Given the description of an element on the screen output the (x, y) to click on. 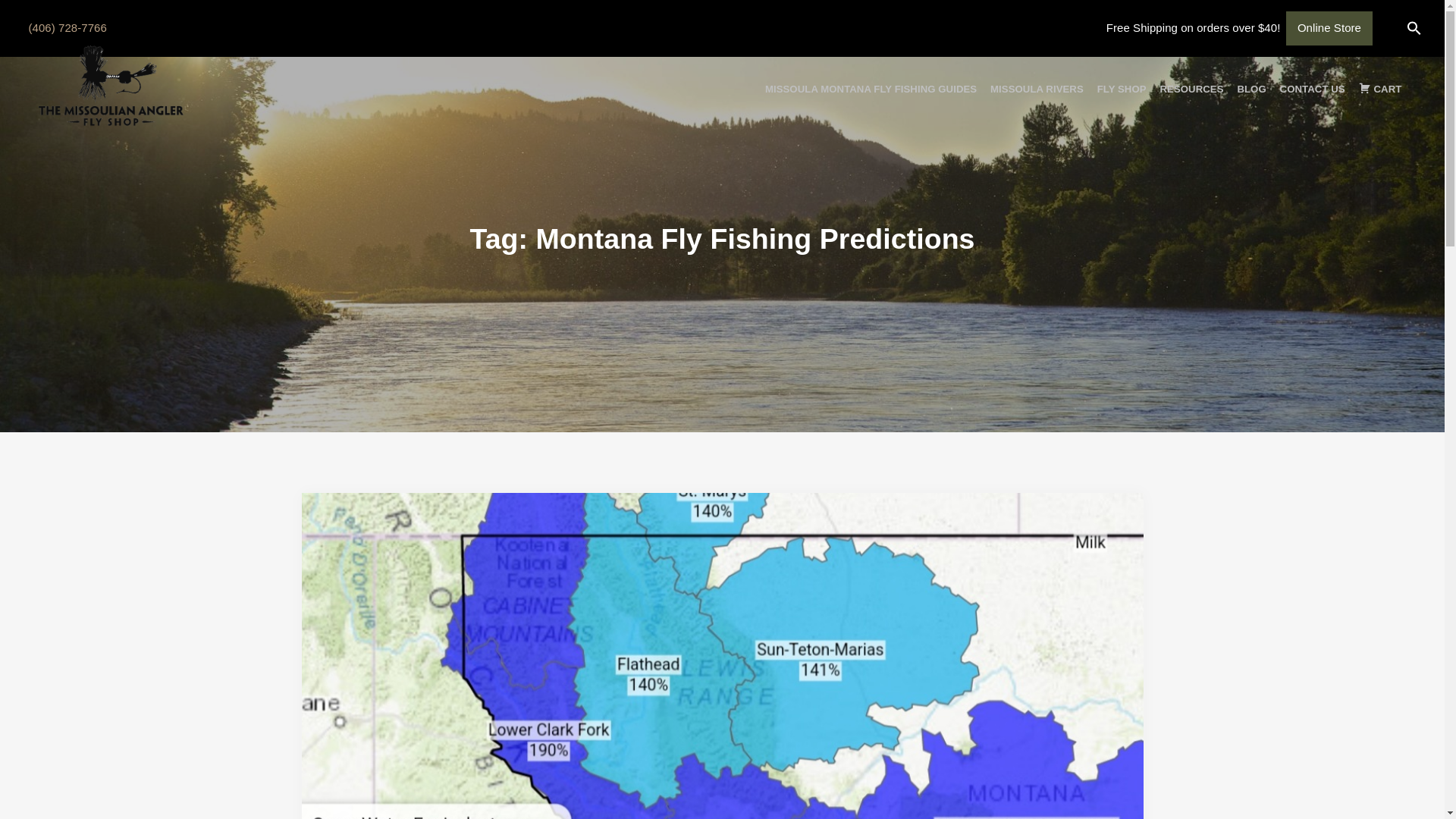
MISSOULA RIVERS (1036, 86)
Online Store (1329, 28)
FLY SHOP (1121, 86)
MISSOULA MONTANA FLY FISHING GUIDES (870, 86)
